Given the description of an element on the screen output the (x, y) to click on. 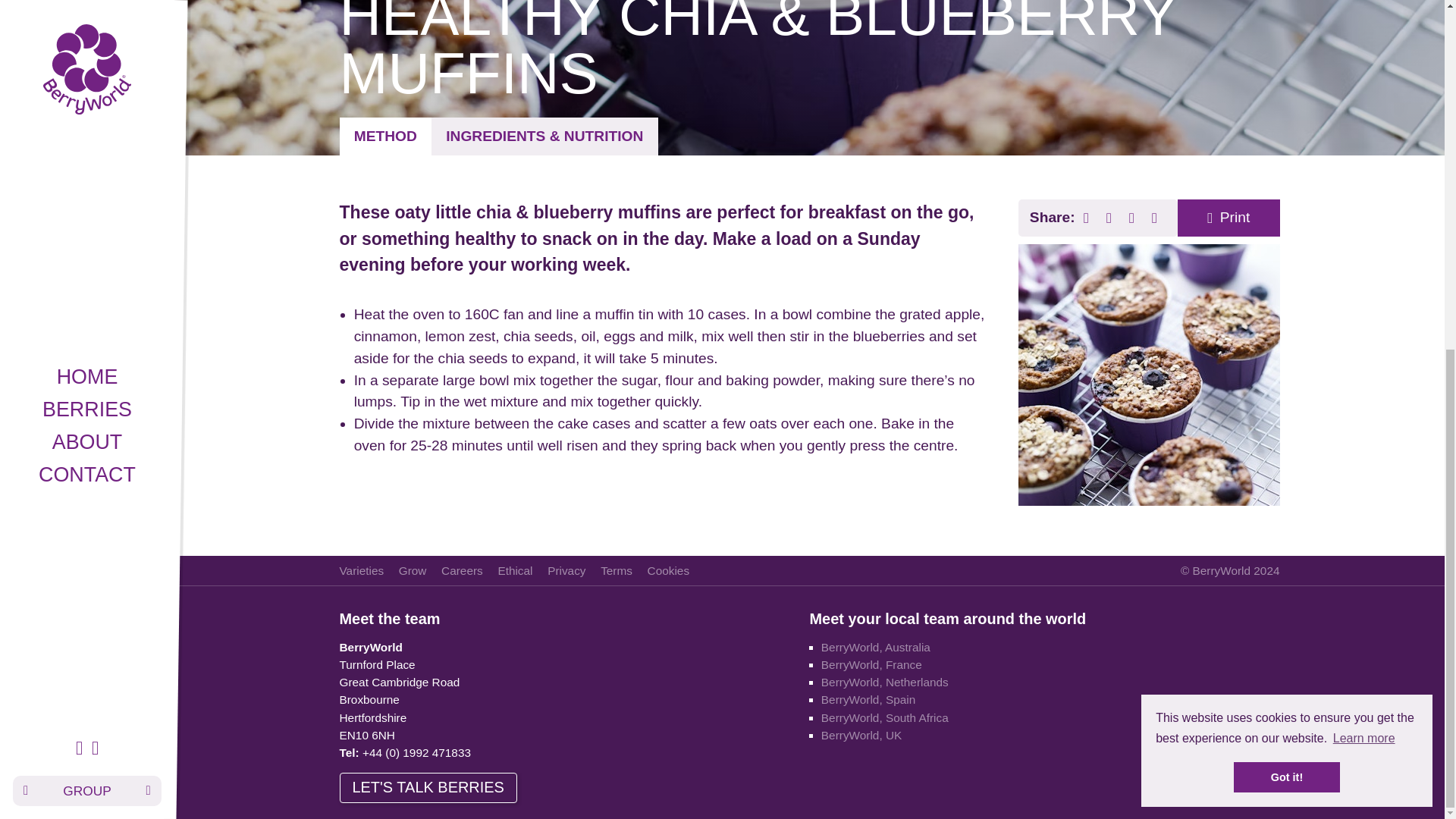
Print (1228, 217)
Got it! (1286, 171)
METHOD (385, 136)
Learn more (1363, 132)
Select language (86, 184)
GROUP (86, 184)
